Given the description of an element on the screen output the (x, y) to click on. 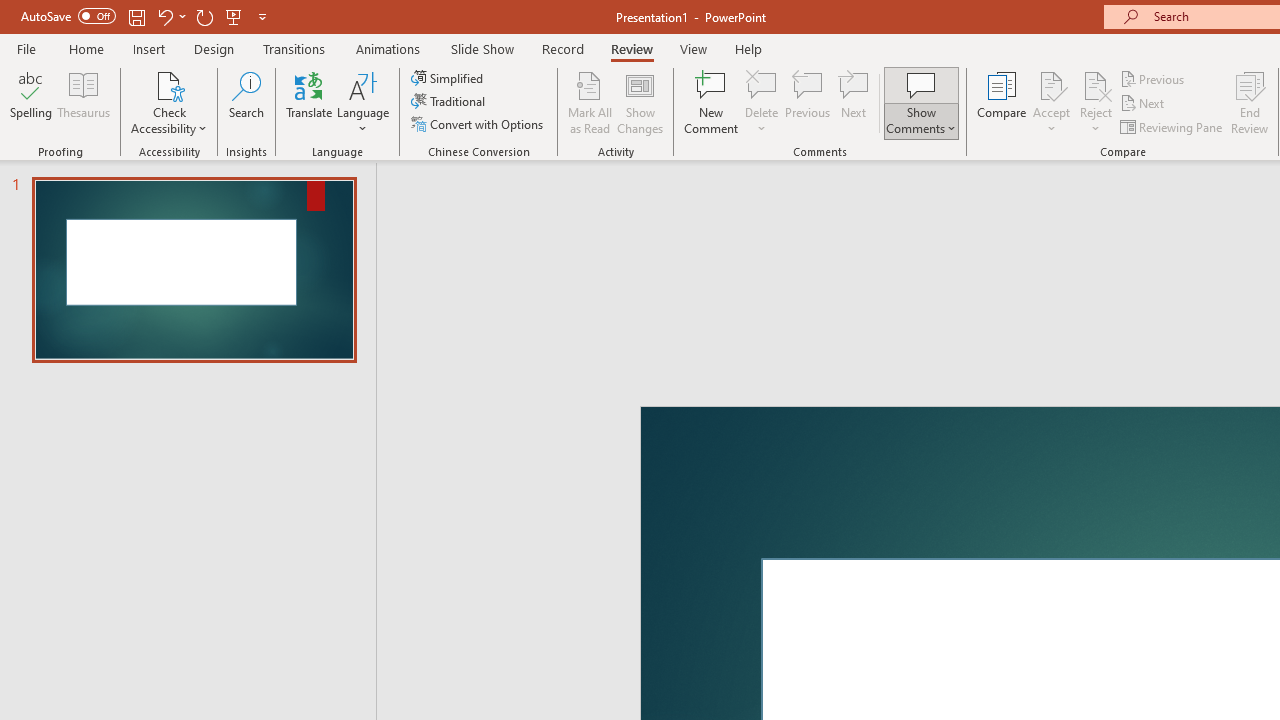
Show Comments (921, 84)
Delete (762, 102)
Next (1144, 103)
Delete (762, 84)
Check Accessibility (169, 84)
End Review (1249, 102)
Spelling... (31, 102)
